Given the description of an element on the screen output the (x, y) to click on. 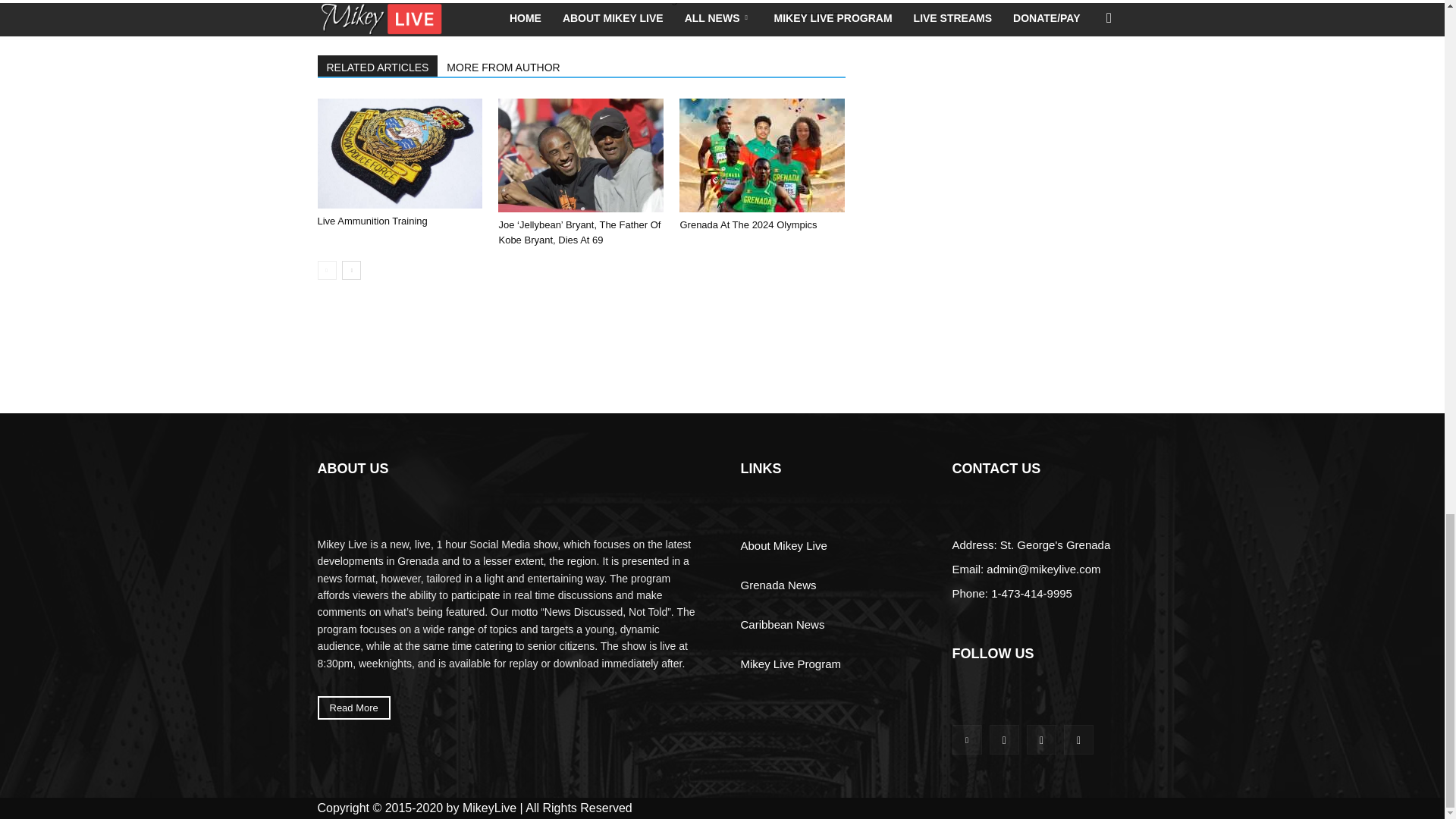
Live Ammunition Training (399, 153)
Live Ammunition Training (371, 220)
